Given the description of an element on the screen output the (x, y) to click on. 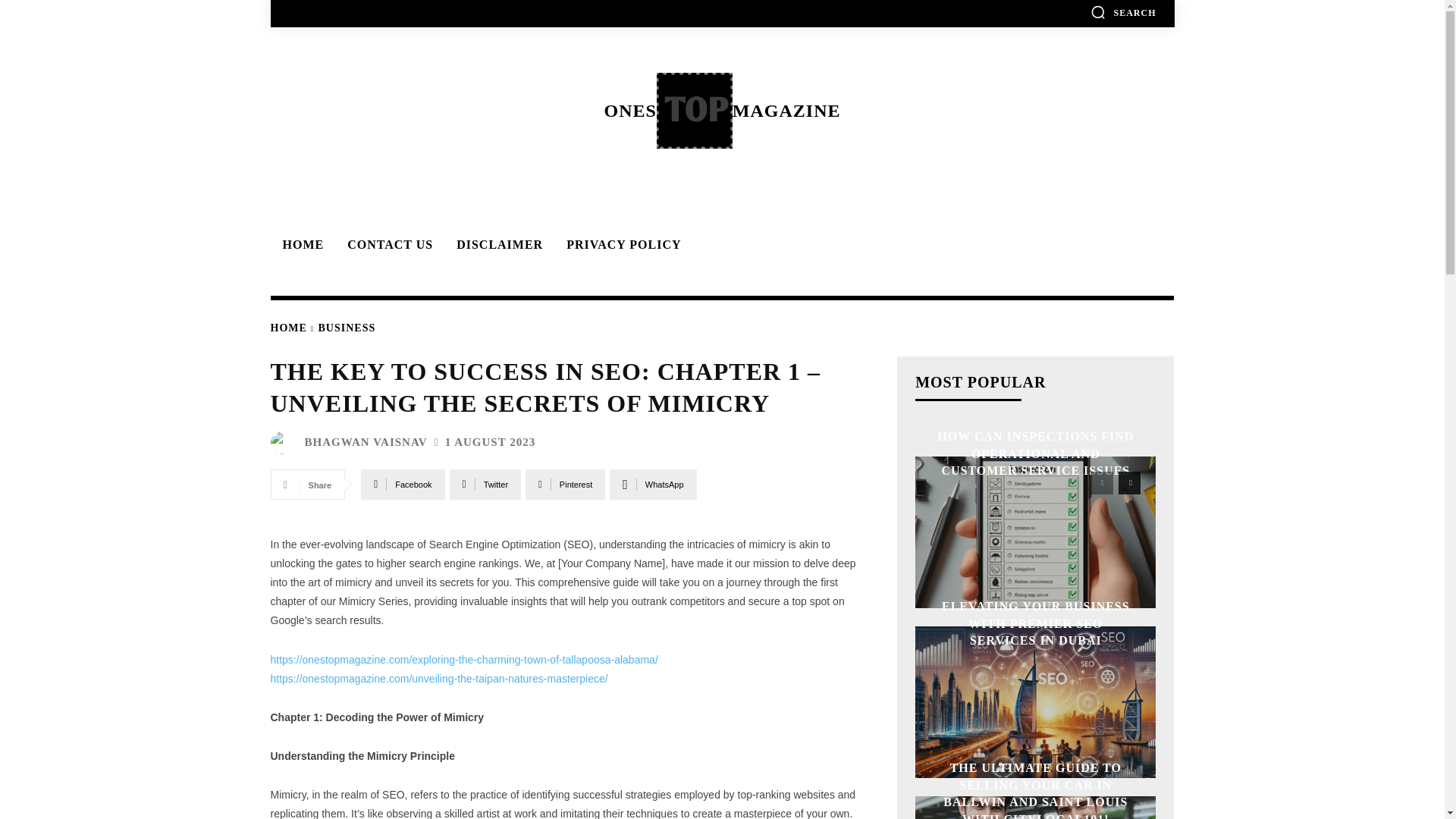
HOME (287, 327)
CONTACT US (387, 244)
WhatsApp (652, 484)
BHAGWAN VAISNAV (366, 441)
bhagwan vaisnav (284, 442)
HOME (300, 244)
DISCLAIMER (497, 244)
View all posts in Business (346, 327)
Pinterest (565, 484)
Pinterest (565, 484)
Facebook (402, 484)
BUSINESS (346, 327)
Twitter (485, 484)
SEARCH (1123, 11)
WhatsApp (652, 484)
